Given the description of an element on the screen output the (x, y) to click on. 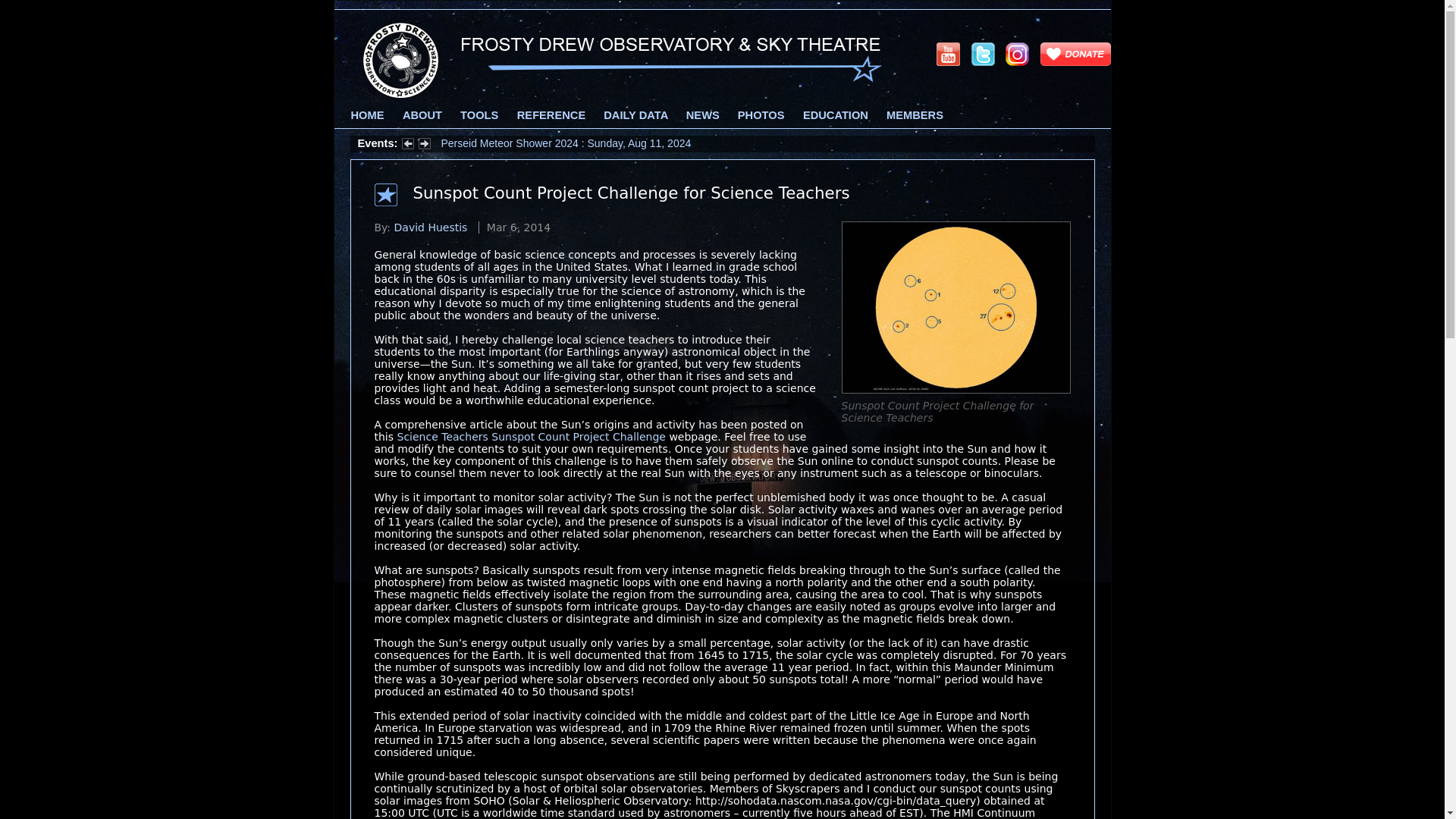
Frosty Drew Observatory Tools and Utilities (478, 114)
REFERENCE (550, 114)
HOME (367, 114)
Donate to Frosty Drew Observatory and Science Center (1075, 52)
NEWS (702, 114)
ABOUT (422, 114)
MEMBERS (914, 114)
Perseid Meteor Shower 2024 : Sunday, Aug 11, 2024 (566, 143)
PHOTOS (761, 114)
